Given the description of an element on the screen output the (x, y) to click on. 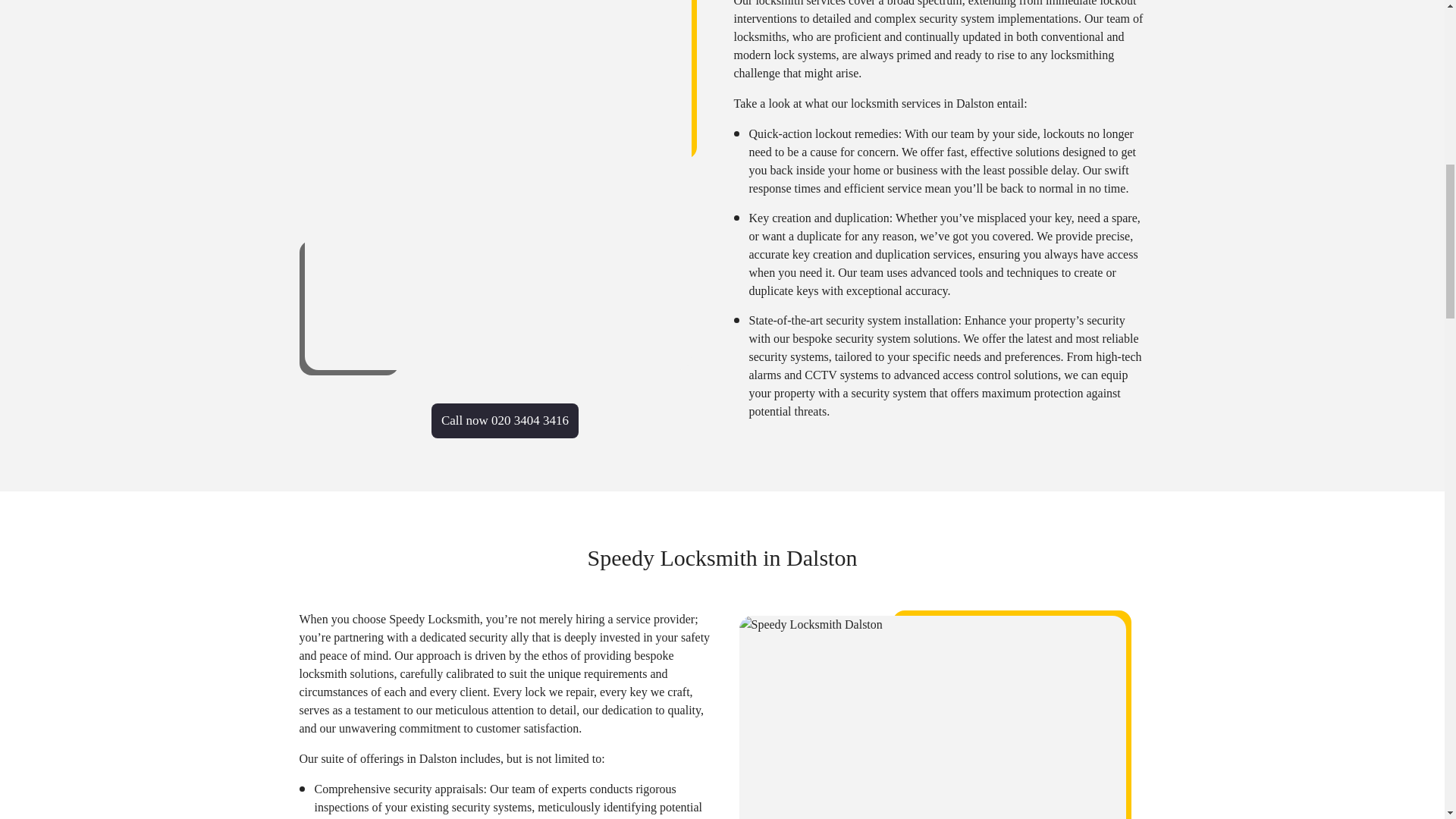
Speedy Locksmith Dalston (931, 717)
Call now 020 3404 3416 (504, 420)
